Given the description of an element on the screen output the (x, y) to click on. 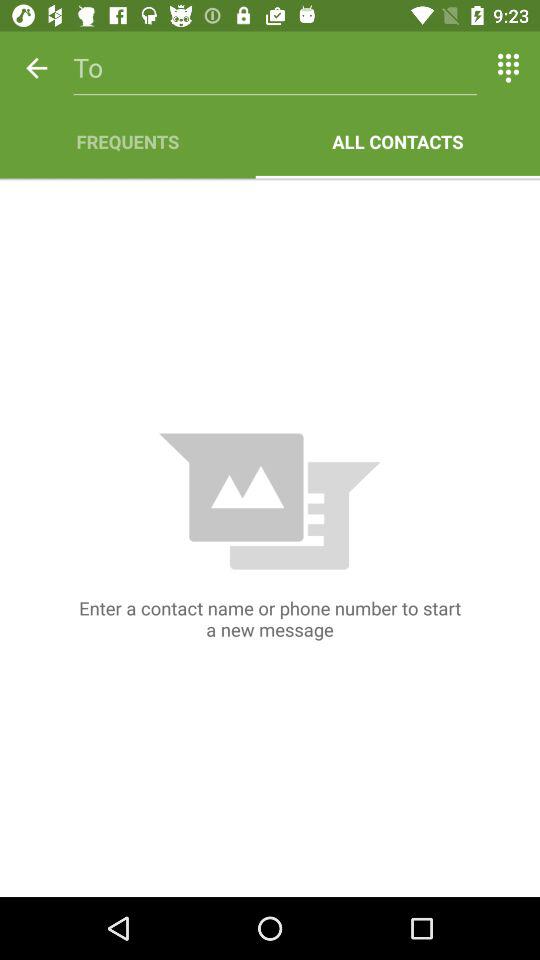
tap app next to the frequents icon (397, 141)
